Given the description of an element on the screen output the (x, y) to click on. 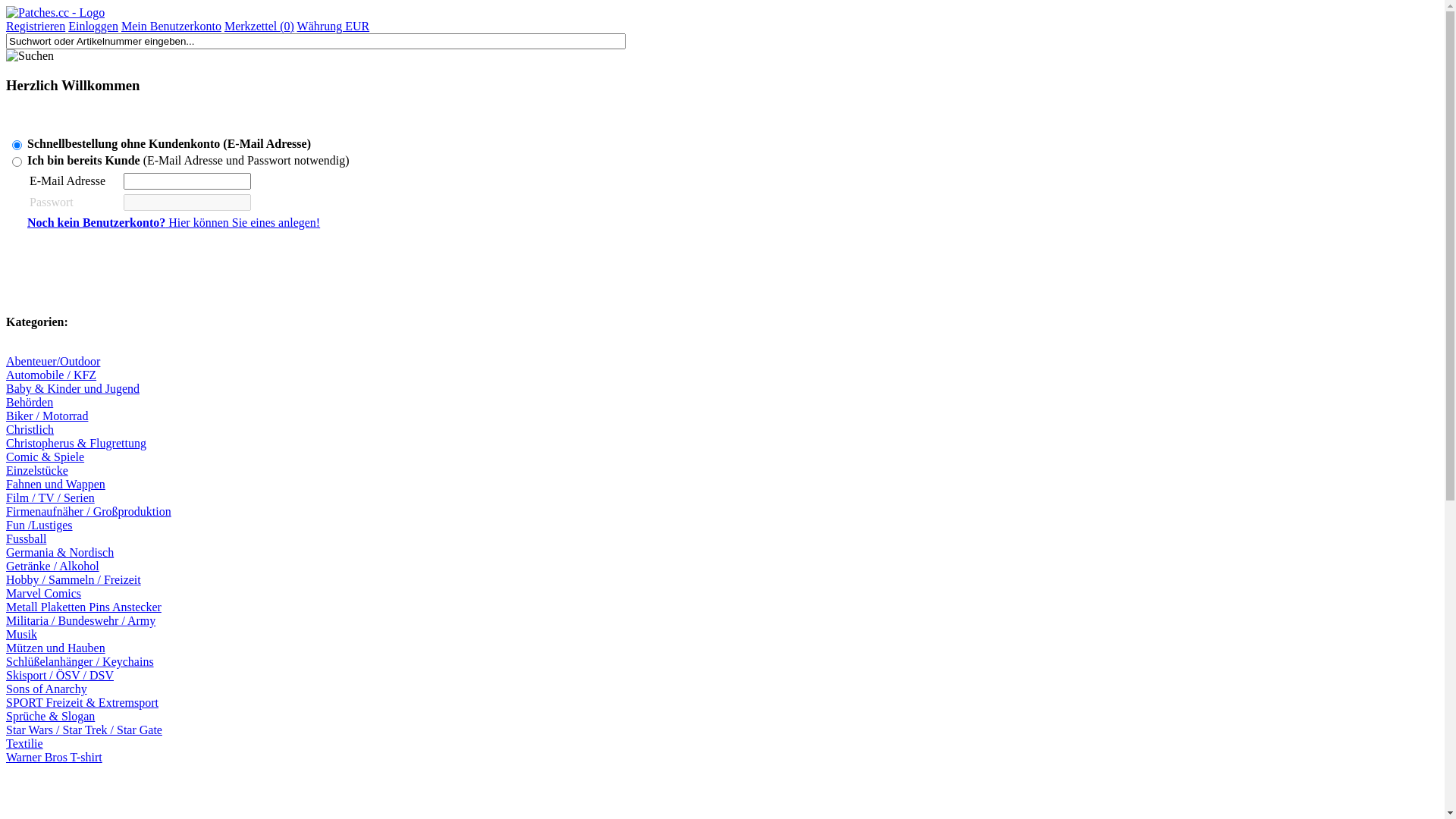
Baby & Kinder und Jugend Element type: text (72, 388)
Textilie Element type: text (24, 743)
Abenteuer/Outdoor Element type: text (53, 360)
Metall Plaketten Pins Anstecker Element type: text (83, 606)
Patches.cc - Startseite Element type: hover (55, 12)
Militaria / Bundeswehr / Army Element type: text (80, 620)
Automobile / KFZ Element type: text (51, 374)
Star Wars / Star Trek / Star Gate Element type: text (84, 729)
Christopherus & Flugrettung Element type: text (76, 442)
Fahnen und Wappen Element type: text (55, 483)
Fussball Element type: text (26, 538)
Comic & Spiele Element type: text (45, 456)
Germania & Nordisch Element type: text (59, 552)
1 Element type: text (16, 145)
Hobby / Sammeln / Freizeit Element type: text (73, 579)
Biker / Motorrad Element type: text (46, 415)
Registrieren Element type: text (35, 25)
Marvel Comics Element type: text (43, 592)
Mein Benutzerkonto Element type: text (171, 25)
Film / TV / Serien Element type: text (50, 497)
2 Element type: text (16, 161)
Musik Element type: text (21, 633)
Sons of Anarchy Element type: text (46, 688)
Einloggen Element type: text (93, 25)
Warner Bros T-shirt Element type: text (54, 756)
Fun /Lustiges Element type: text (39, 524)
Merkzettel (0) Element type: text (259, 25)
SPORT Freizeit & Extremsport Element type: text (82, 702)
Christlich Element type: text (29, 429)
